Given the description of an element on the screen output the (x, y) to click on. 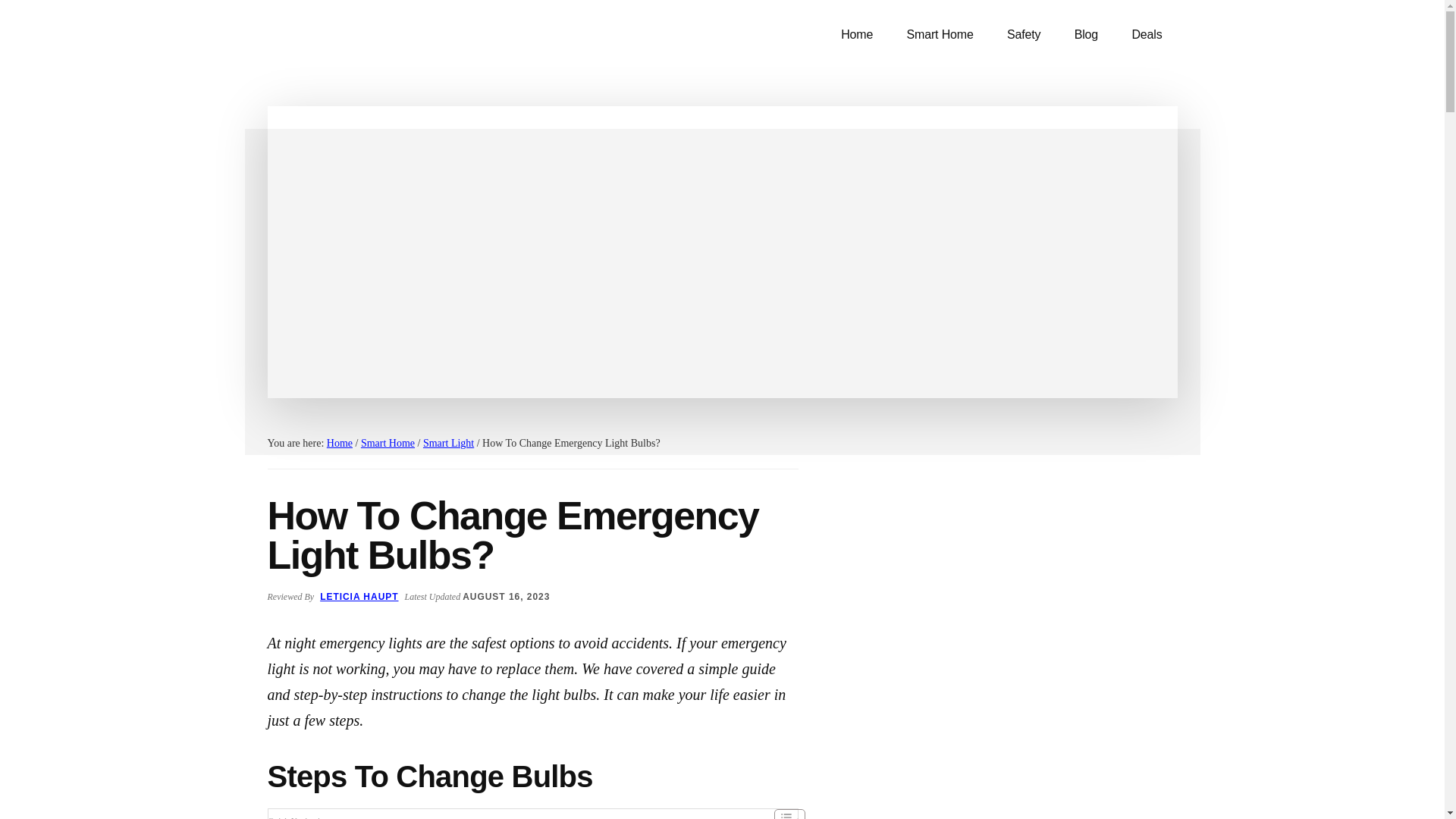
Home (856, 34)
Deals (1146, 34)
Smart Home (387, 442)
Smart Home (939, 34)
Smart Light (448, 442)
BeOnHome (380, 45)
Blog (1086, 34)
Safety (1023, 34)
LETICIA HAUPT (358, 596)
Home (339, 442)
